Given the description of an element on the screen output the (x, y) to click on. 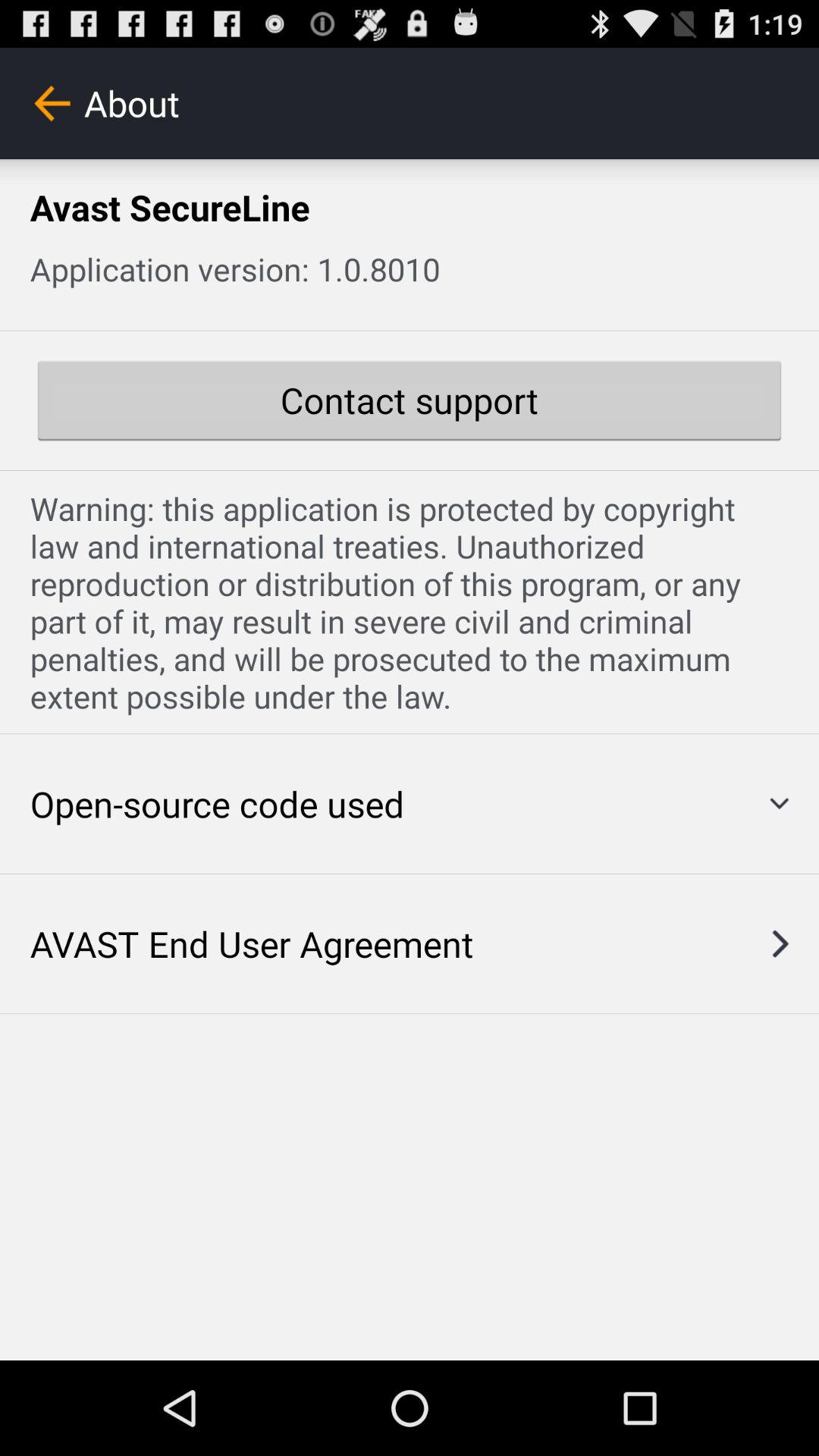
open the warning this application item (409, 601)
